Given the description of an element on the screen output the (x, y) to click on. 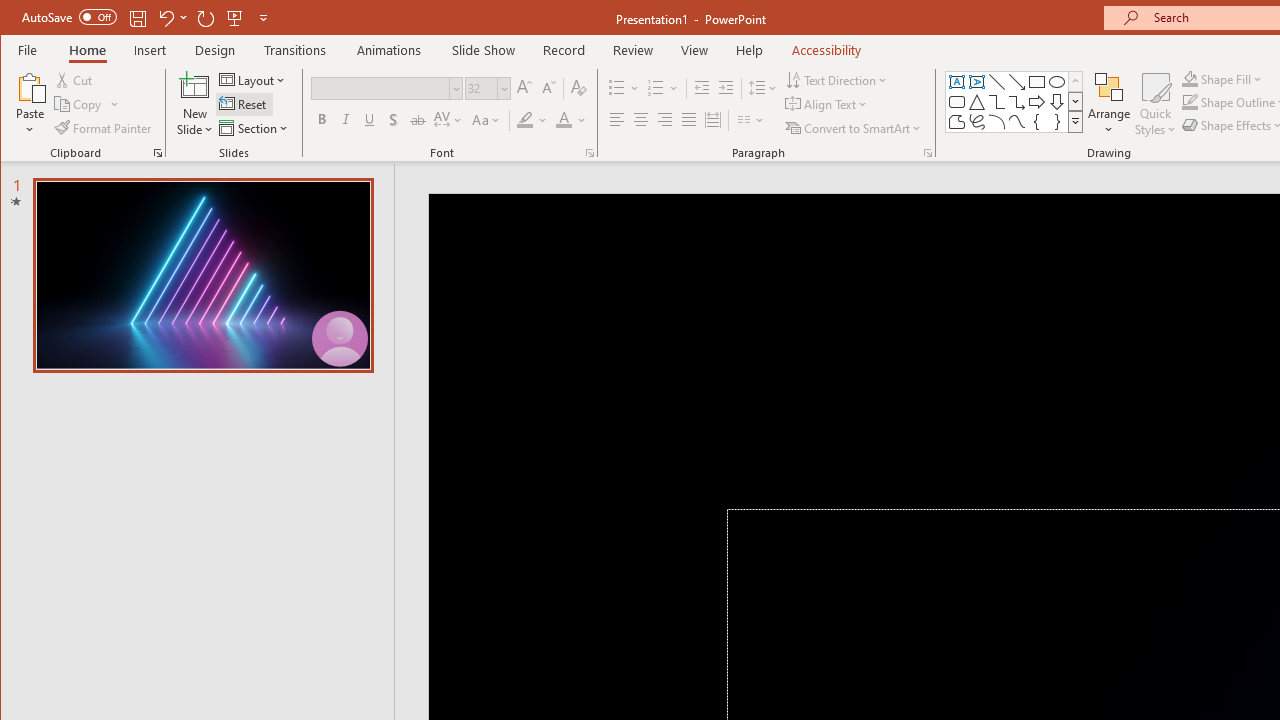
Character Spacing (449, 119)
Center (640, 119)
Columns (751, 119)
Increase Indent (726, 88)
Vertical Text Box (976, 82)
Layout (253, 80)
Text Box (956, 82)
Clear Formatting (579, 88)
Section (255, 127)
Align Right (664, 119)
Font Color Red (563, 119)
Row Down (1074, 101)
